Given the description of an element on the screen output the (x, y) to click on. 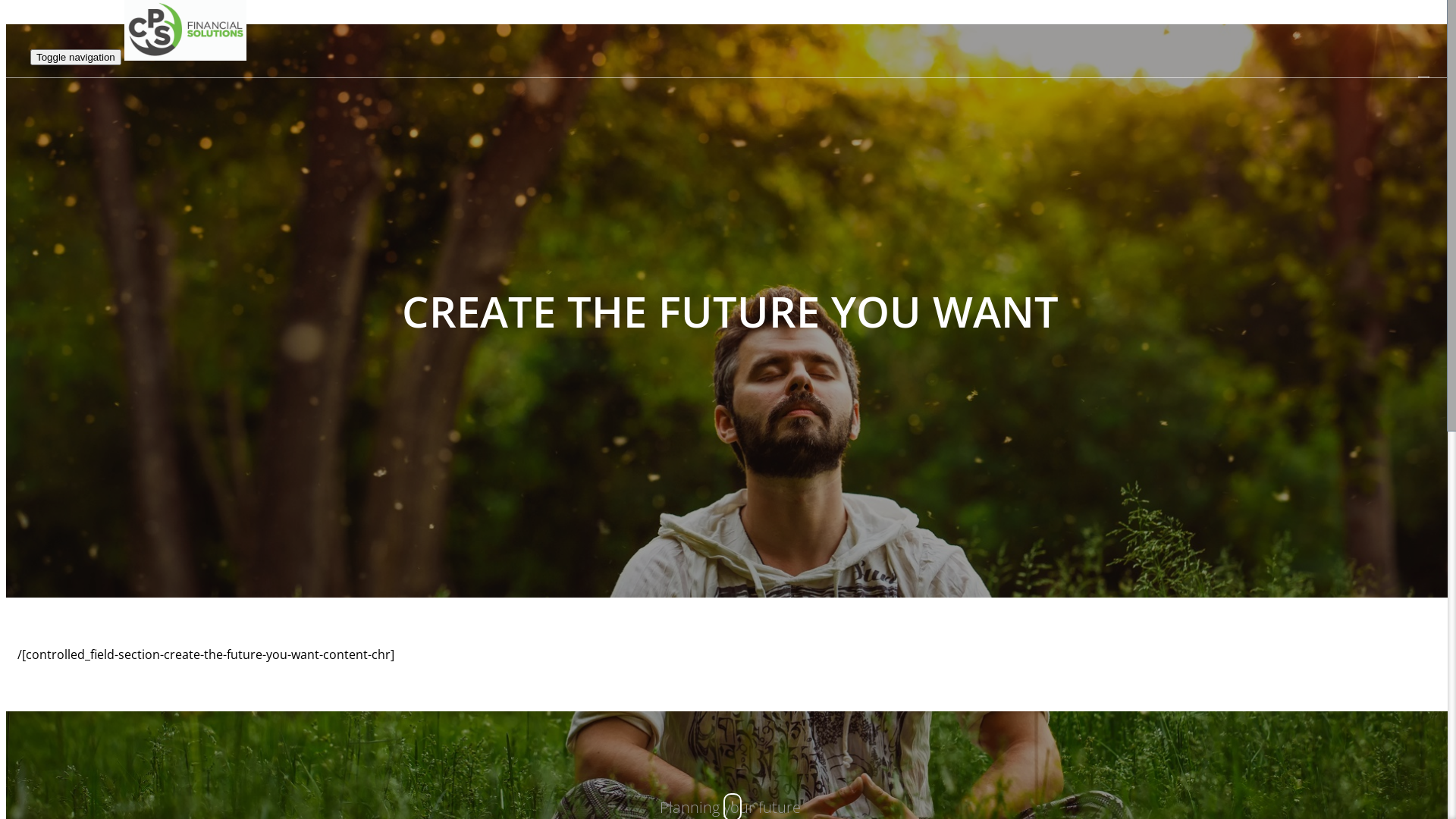
What to expect Element type: text (1325, 126)
Contact us Element type: text (1314, 178)
About us Element type: text (1309, 143)
Planning your future Element type: text (1340, 108)
Get Started Element type: text (1315, 161)
Toggle navigation Element type: text (75, 57)
